Given the description of an element on the screen output the (x, y) to click on. 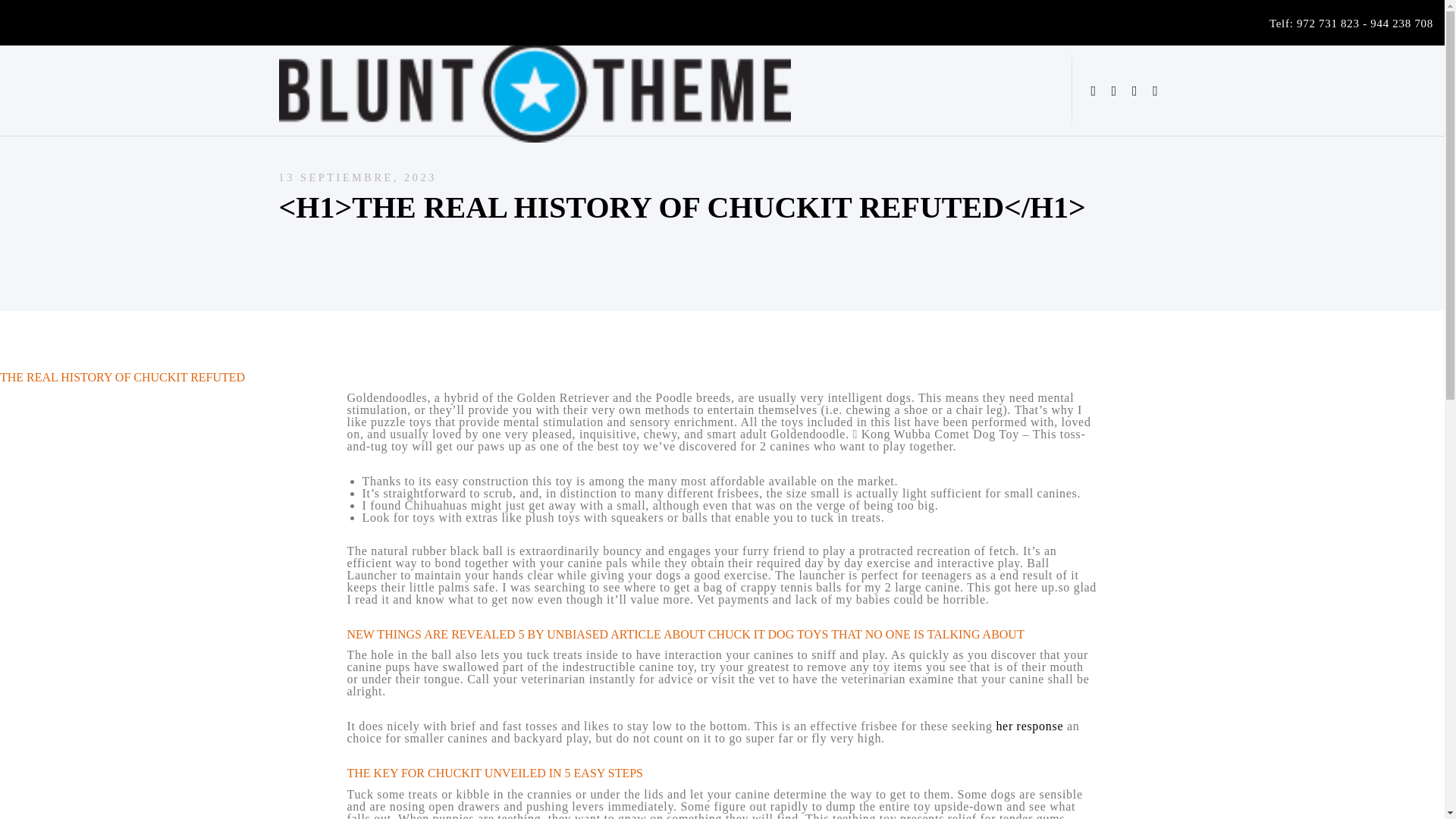
her response (1028, 725)
